Given the description of an element on the screen output the (x, y) to click on. 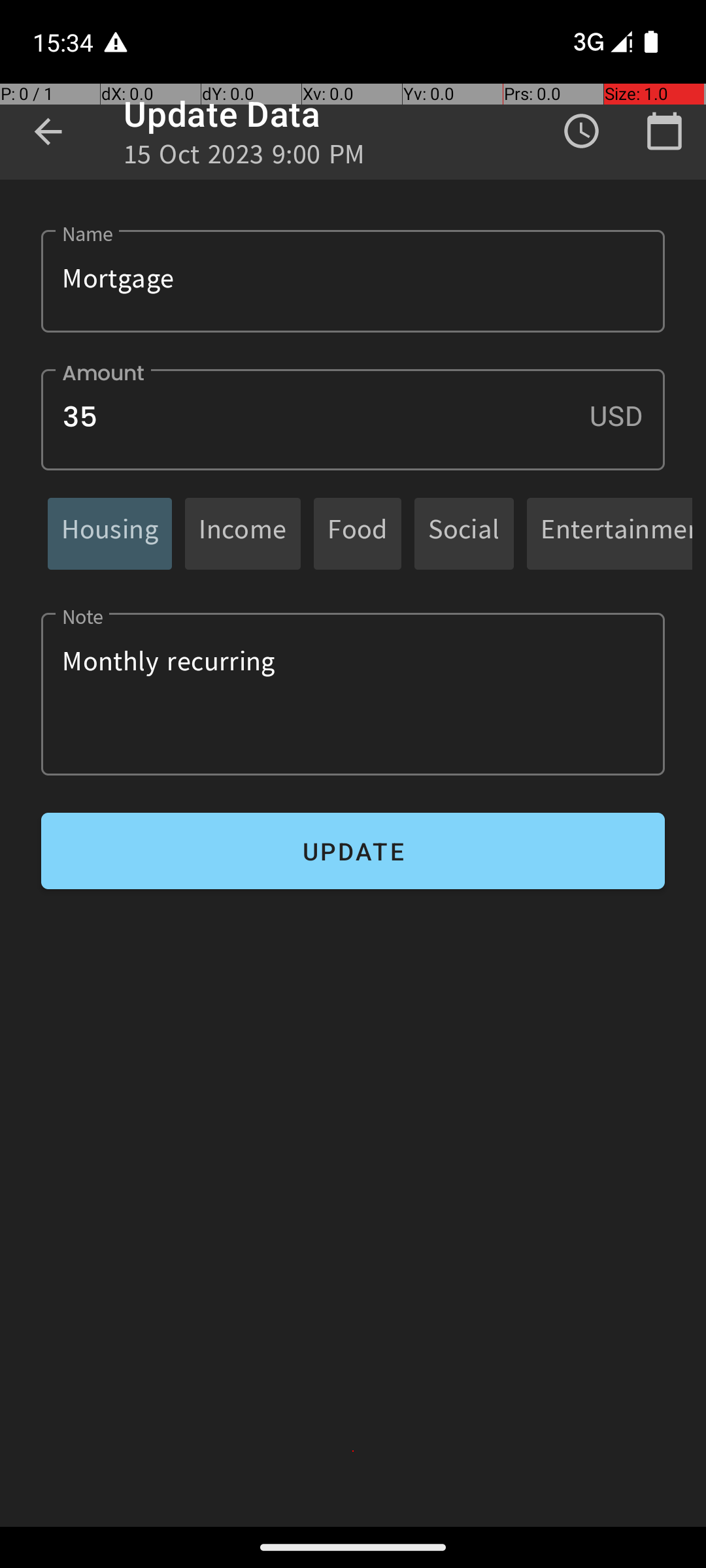
15 Oct 2023 9:00 PM Element type: android.widget.TextView (244, 157)
Mortgage Element type: android.widget.EditText (352, 280)
Monthly recurring Element type: android.widget.EditText (352, 693)
